Given the description of an element on the screen output the (x, y) to click on. 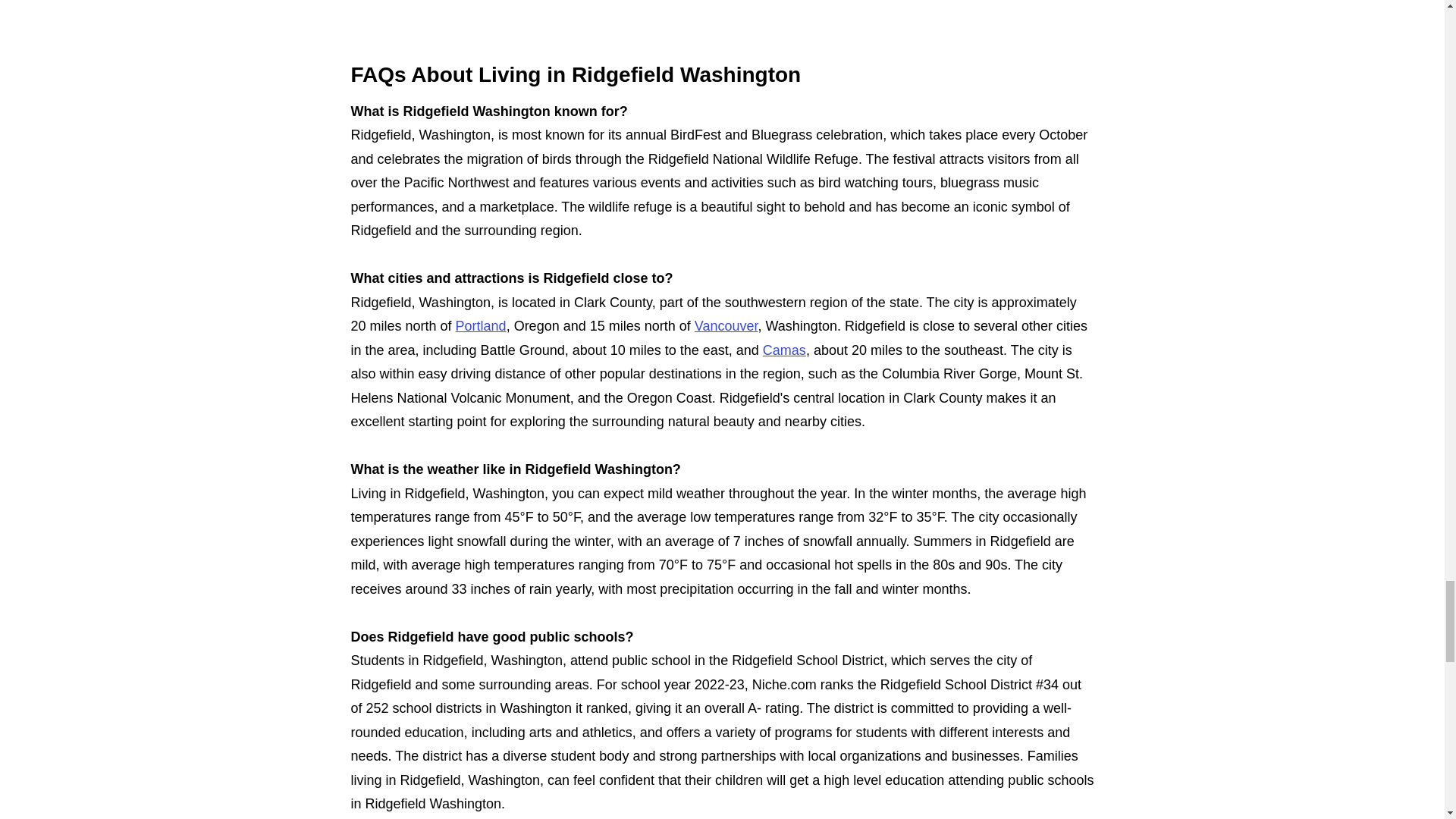
Ridgefield National WIldlife Refuge (721, 15)
